Given the description of an element on the screen output the (x, y) to click on. 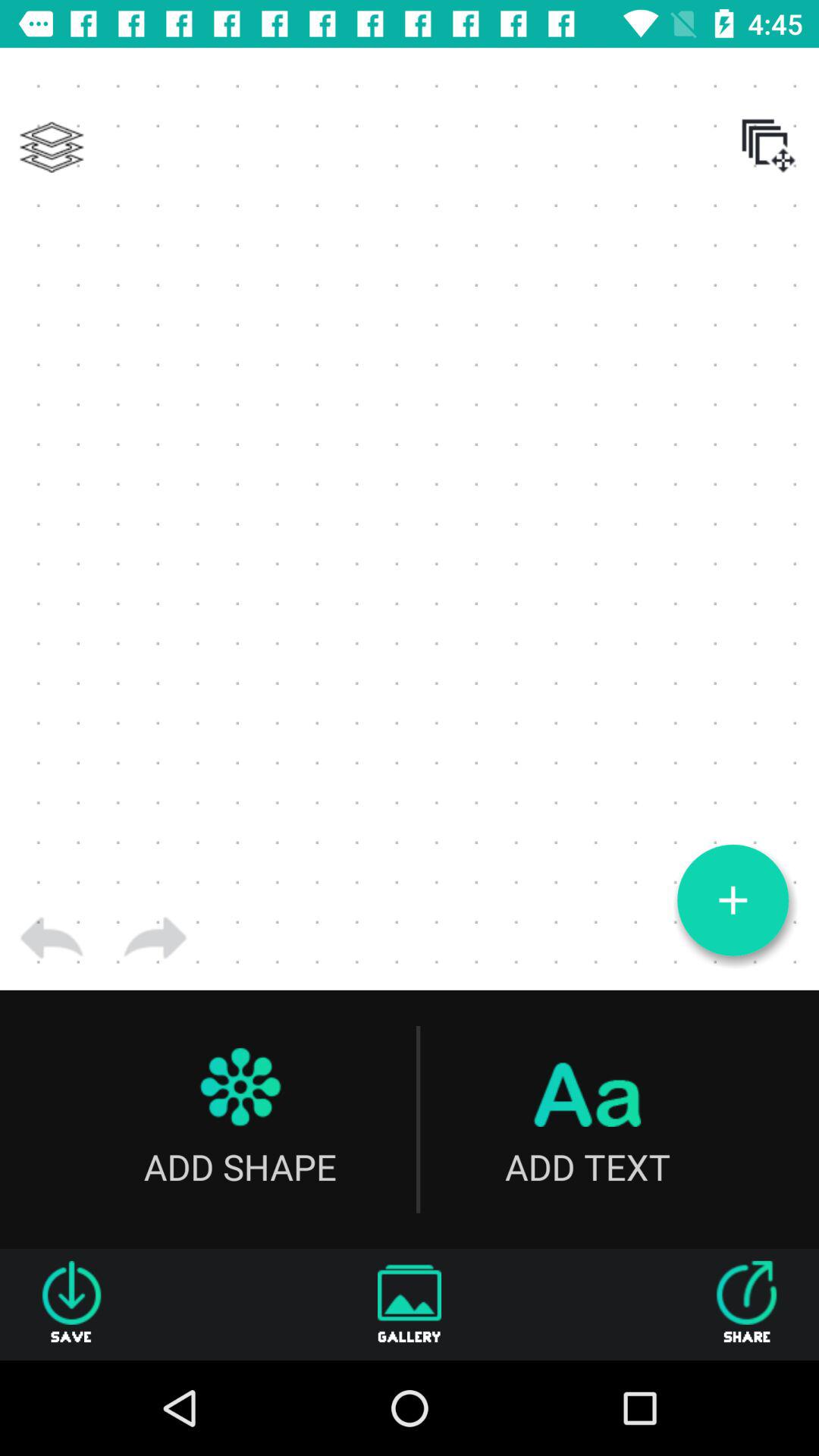
tap the item at the center (409, 518)
